Given the description of an element on the screen output the (x, y) to click on. 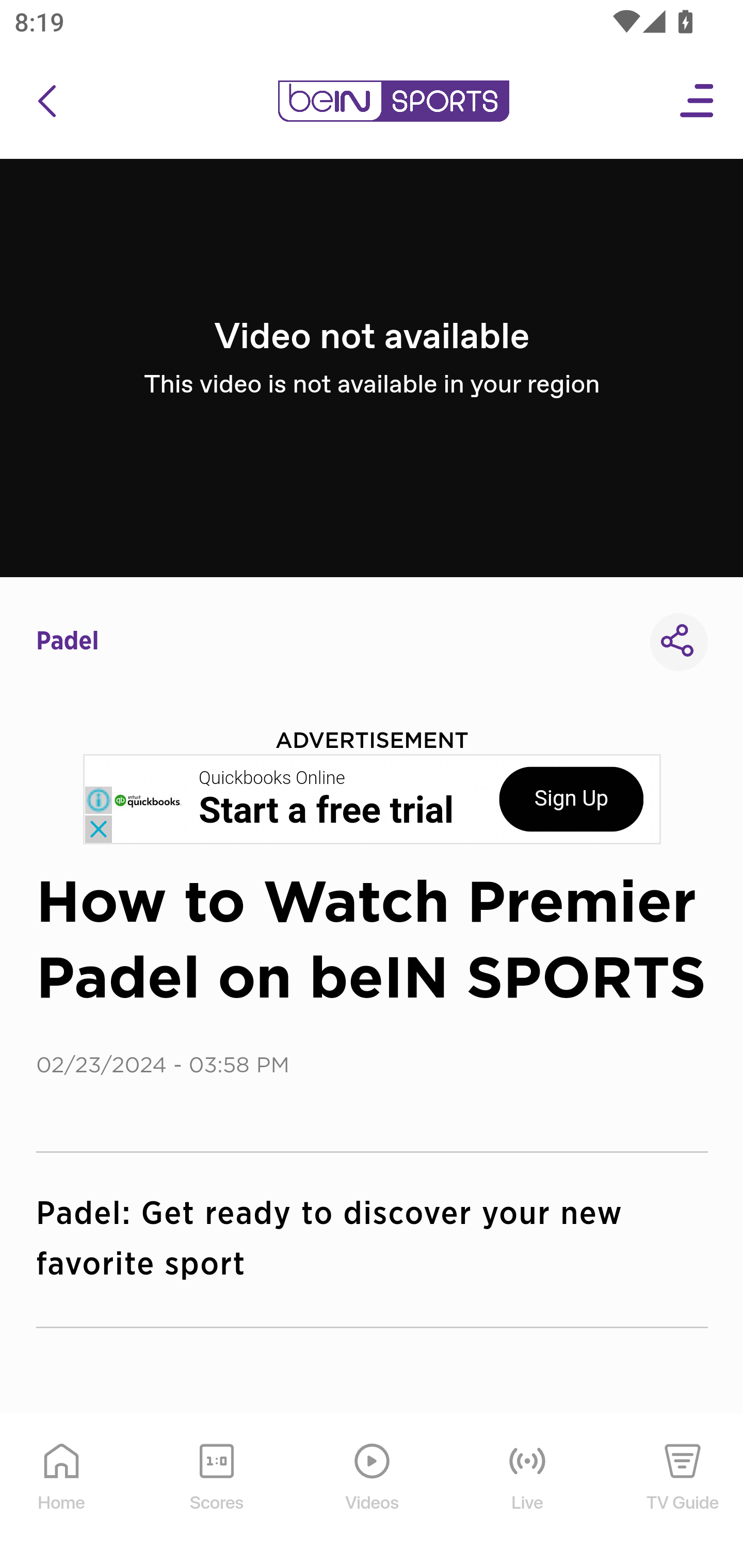
en-us?platform=mobile_android bein logo (392, 101)
icon back (46, 101)
Open Menu Icon (697, 101)
Quickbooks Online (272, 778)
Sign Up (571, 799)
Start a free trial (326, 810)
Home Home Icon Home (61, 1491)
Scores Scores Icon Scores (216, 1491)
Videos Videos Icon Videos (372, 1491)
TV Guide TV Guide Icon TV Guide (682, 1491)
